Given the description of an element on the screen output the (x, y) to click on. 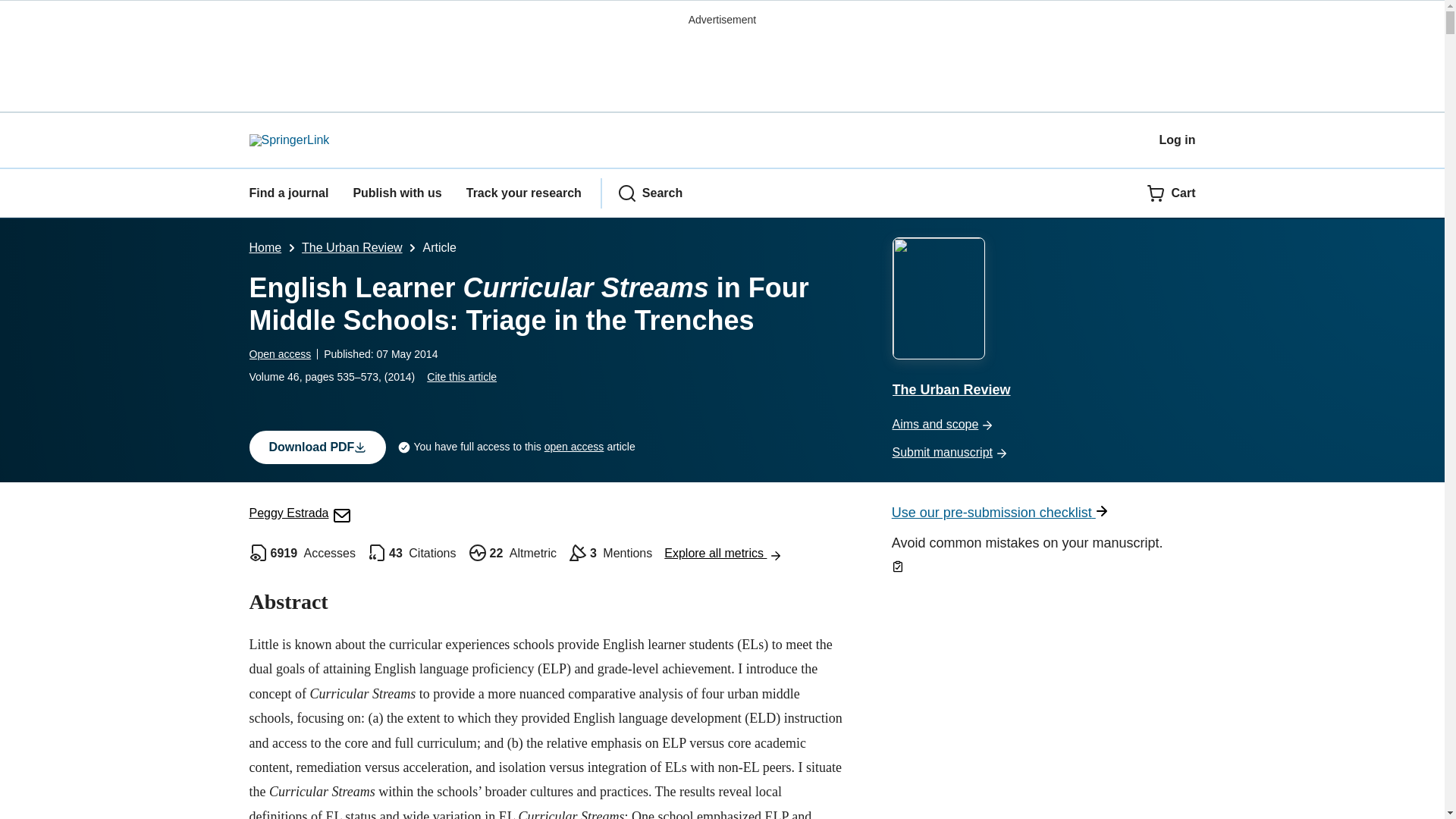
open access (574, 446)
Download PDF (316, 447)
Home (264, 246)
Log in (1177, 139)
Track your research (524, 192)
Find a journal (288, 192)
Peggy Estrada (299, 512)
Open access (279, 354)
Publish with us (396, 192)
The Urban Review (1043, 319)
Search (649, 192)
The Urban Review (352, 246)
Cart (1170, 192)
Aims and scope (1043, 424)
Submit manuscript (1043, 453)
